Given the description of an element on the screen output the (x, y) to click on. 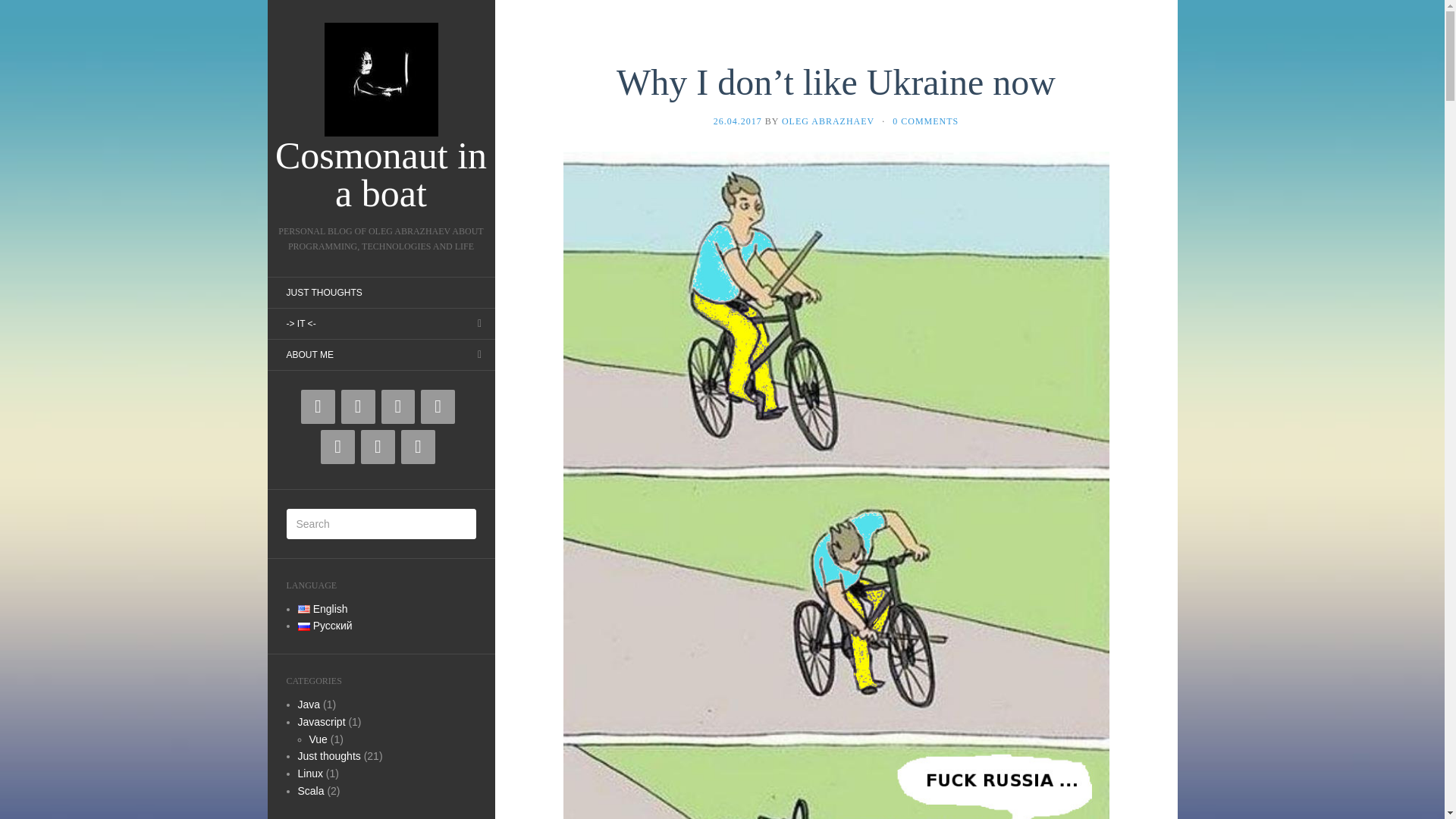
RSS (377, 446)
ABOUT ME (309, 354)
Cosmonaut in a boat (380, 117)
Just thoughts (328, 756)
English (302, 609)
My dear diary, today I ... (328, 756)
LinkedIn (437, 406)
Search (22, 11)
English (322, 608)
Github (357, 406)
